Given the description of an element on the screen output the (x, y) to click on. 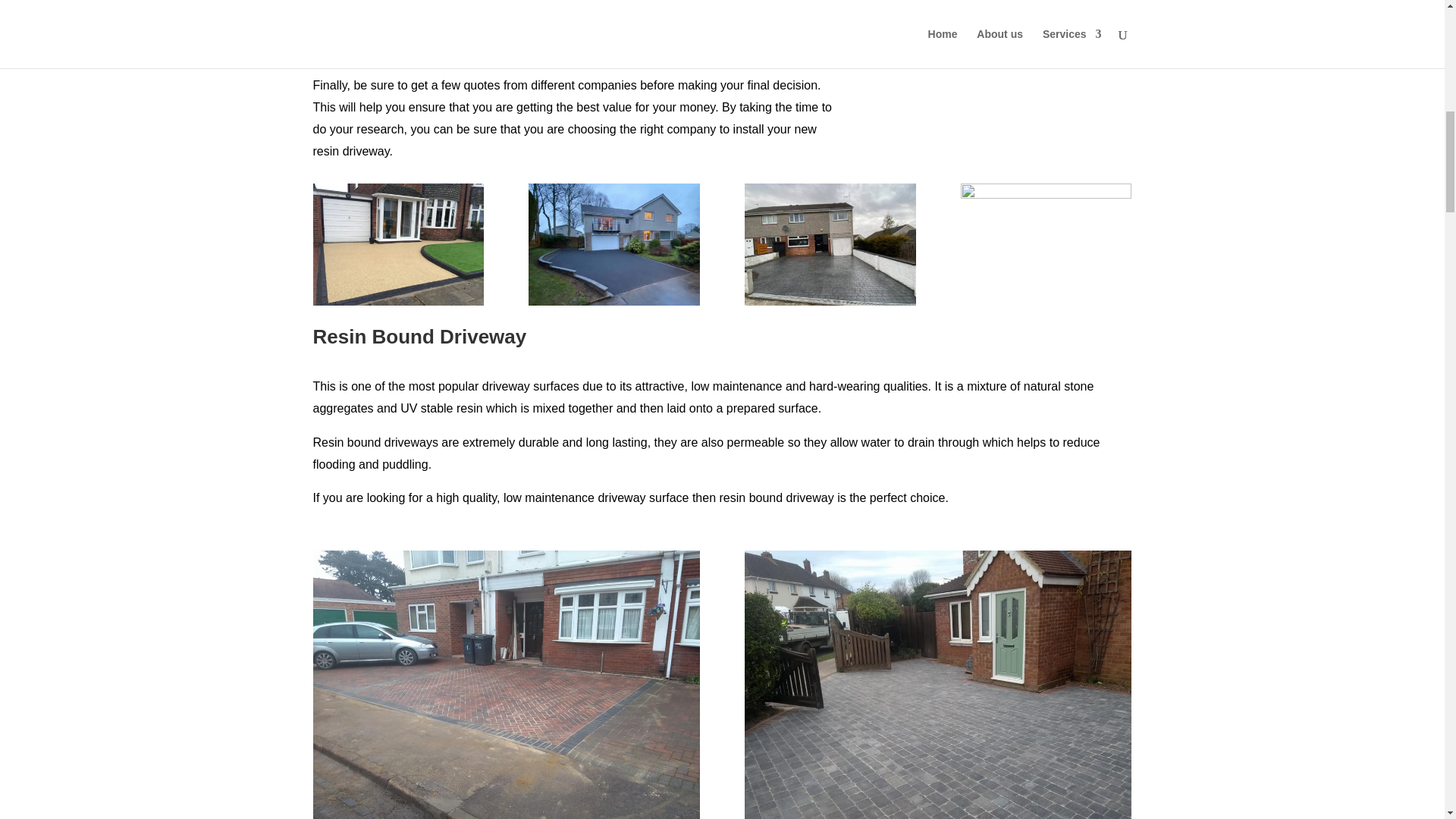
SUBMIT (1094, 30)
